Given the description of an element on the screen output the (x, y) to click on. 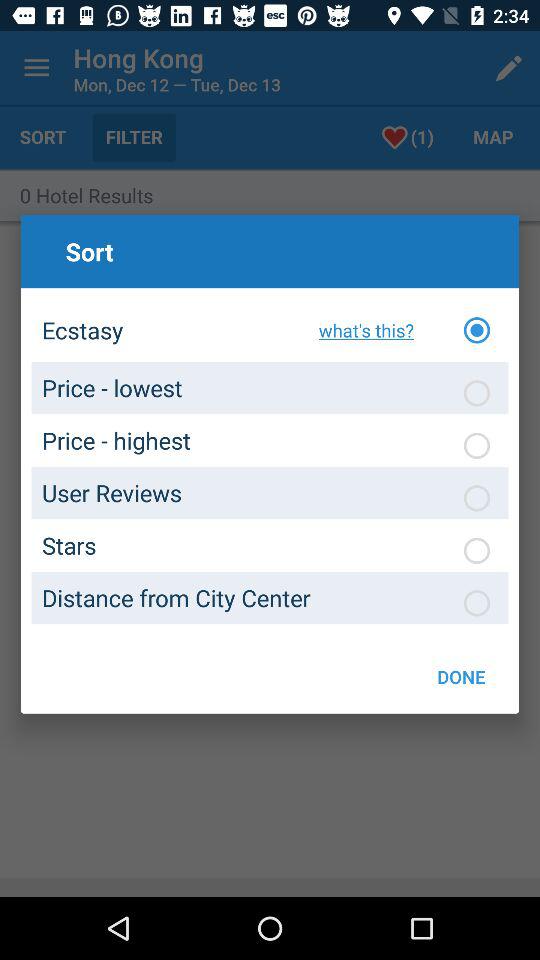
click icon button (477, 498)
